Given the description of an element on the screen output the (x, y) to click on. 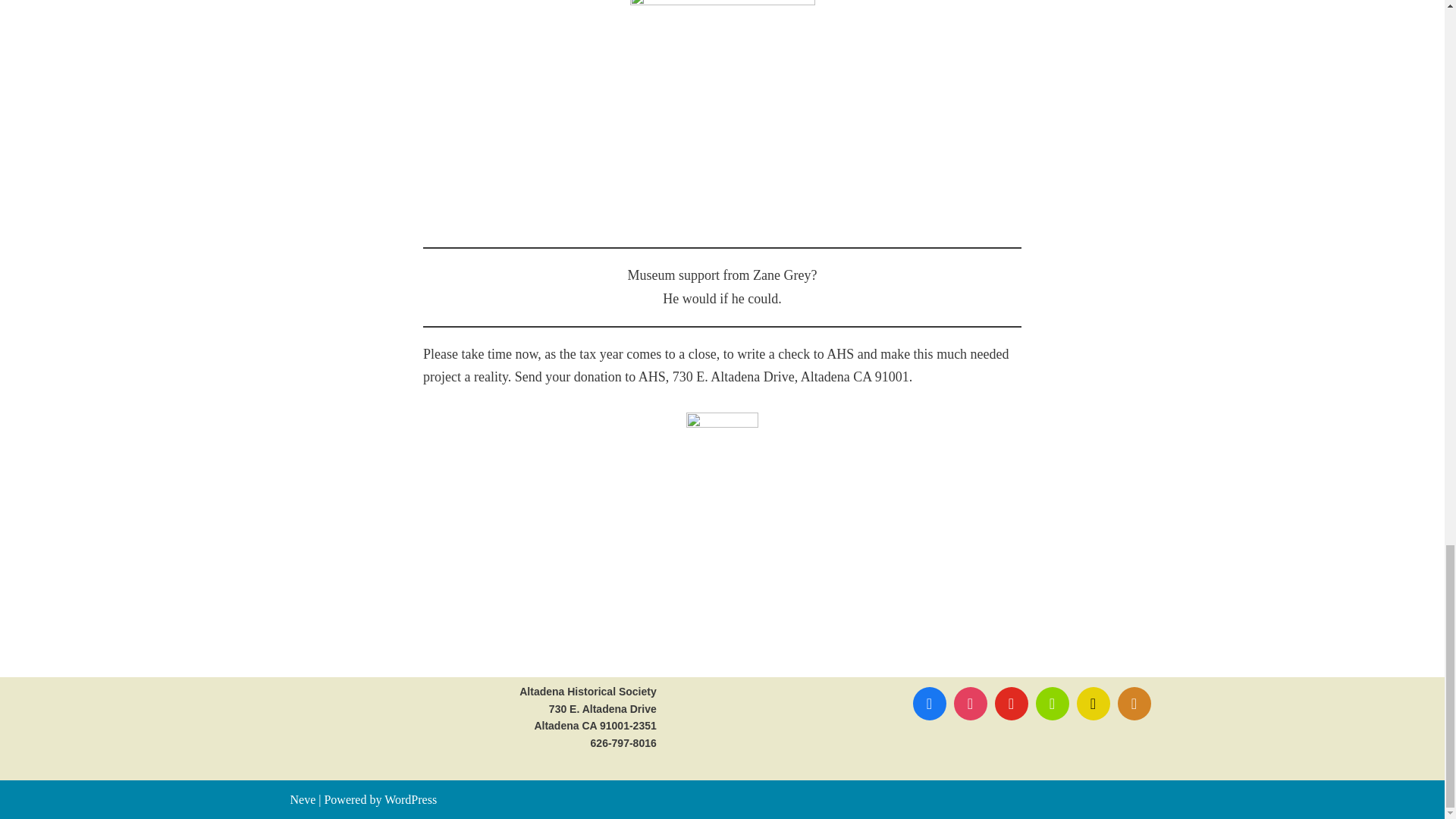
Facebook (928, 703)
Mail (1133, 703)
Nextdoor (1050, 703)
Youtube (1010, 703)
Mailchimp (1092, 703)
Instagram (969, 703)
